Given the description of an element on the screen output the (x, y) to click on. 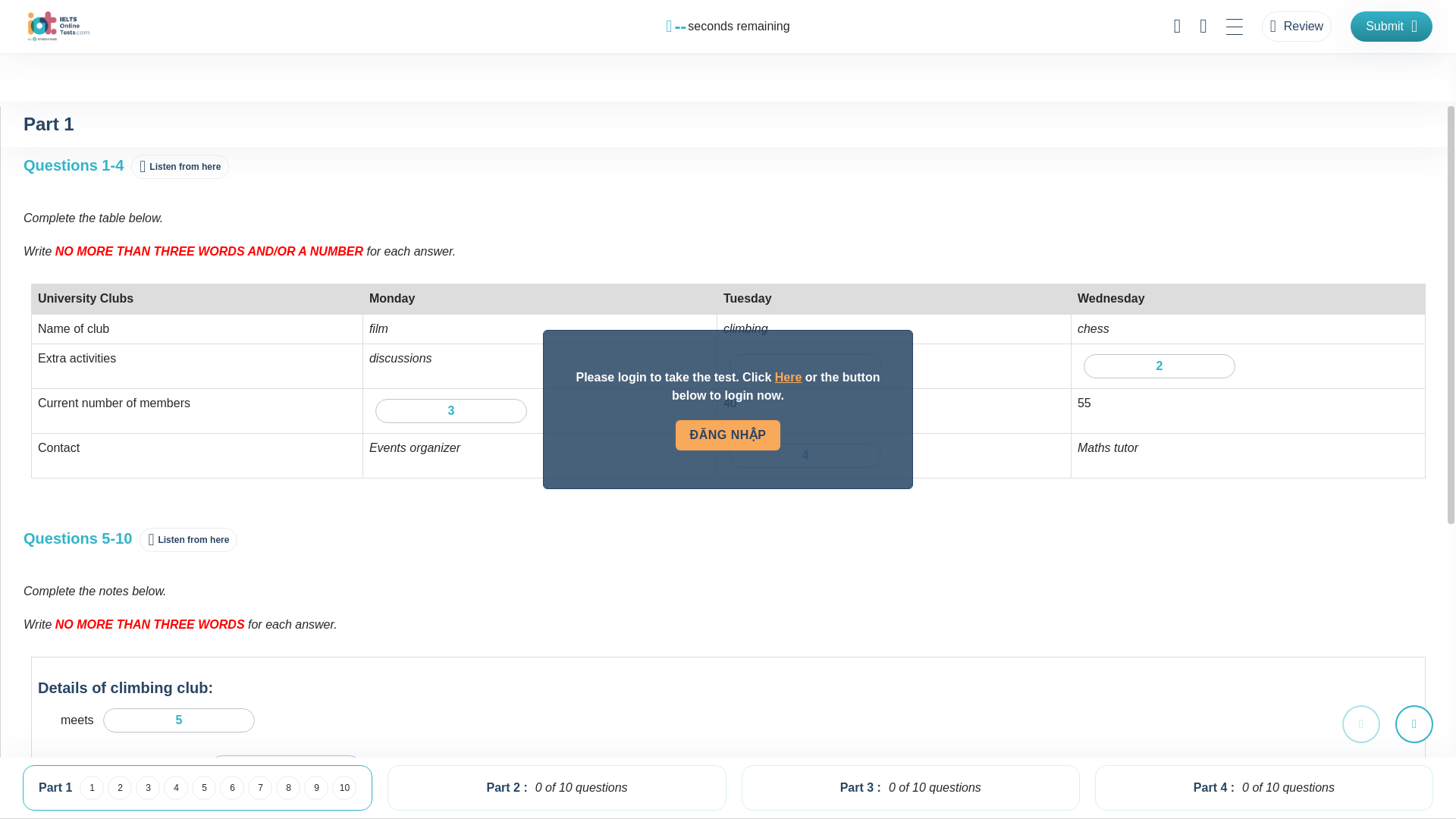
Submit (1391, 26)
Review (1297, 26)
Here (788, 377)
